Given the description of an element on the screen output the (x, y) to click on. 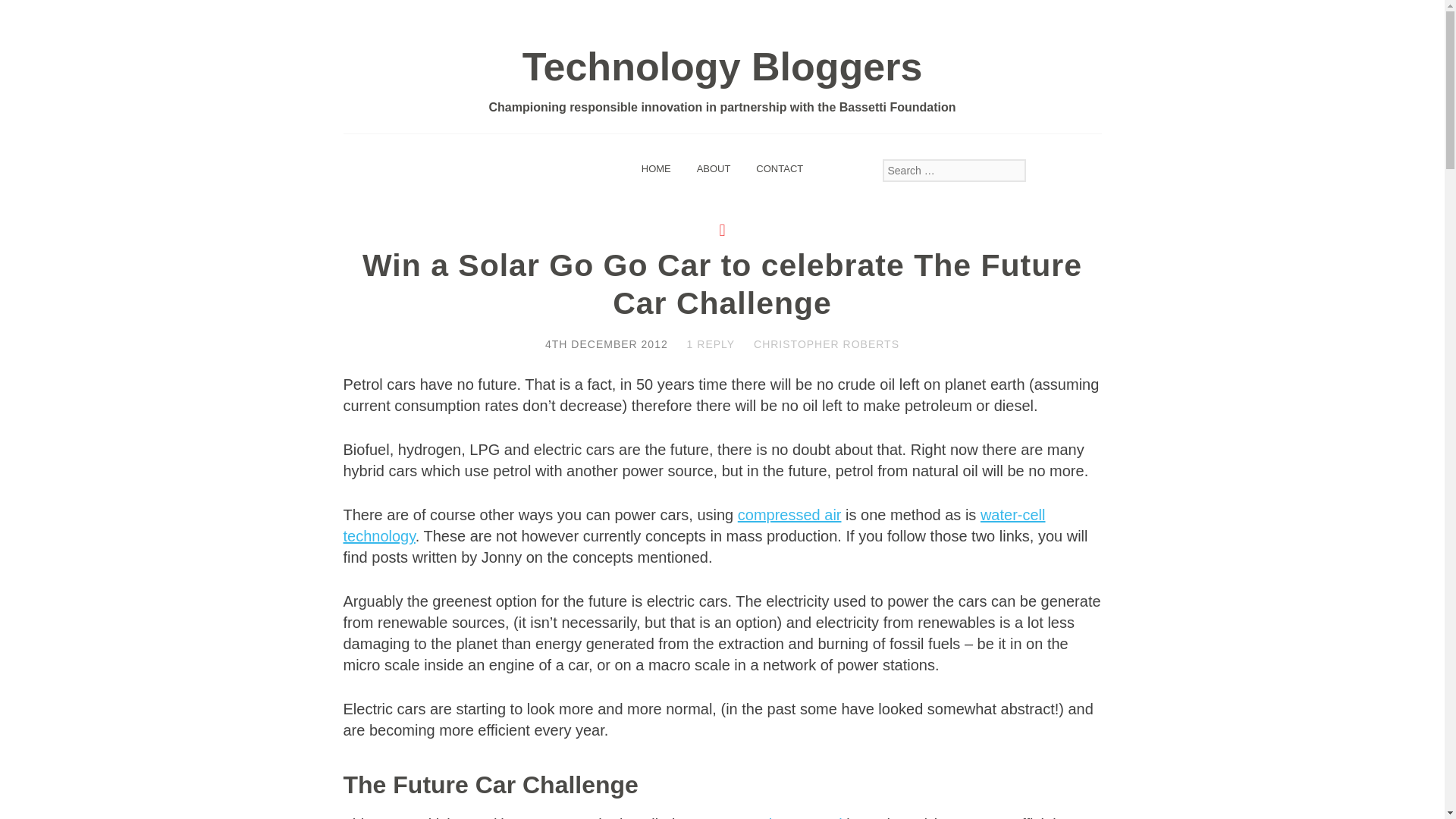
water-cell technology (693, 525)
Search for: (954, 169)
Remote Heating Control (761, 817)
A Possible Breakthrough in Energy Storage? (789, 514)
Technology Bloggers (722, 66)
1 REPLY (711, 344)
View all posts by Christopher Roberts (826, 344)
compressed air (789, 514)
CONTACT (778, 167)
Get In Touch With Technology Bloggers (778, 167)
